Given the description of an element on the screen output the (x, y) to click on. 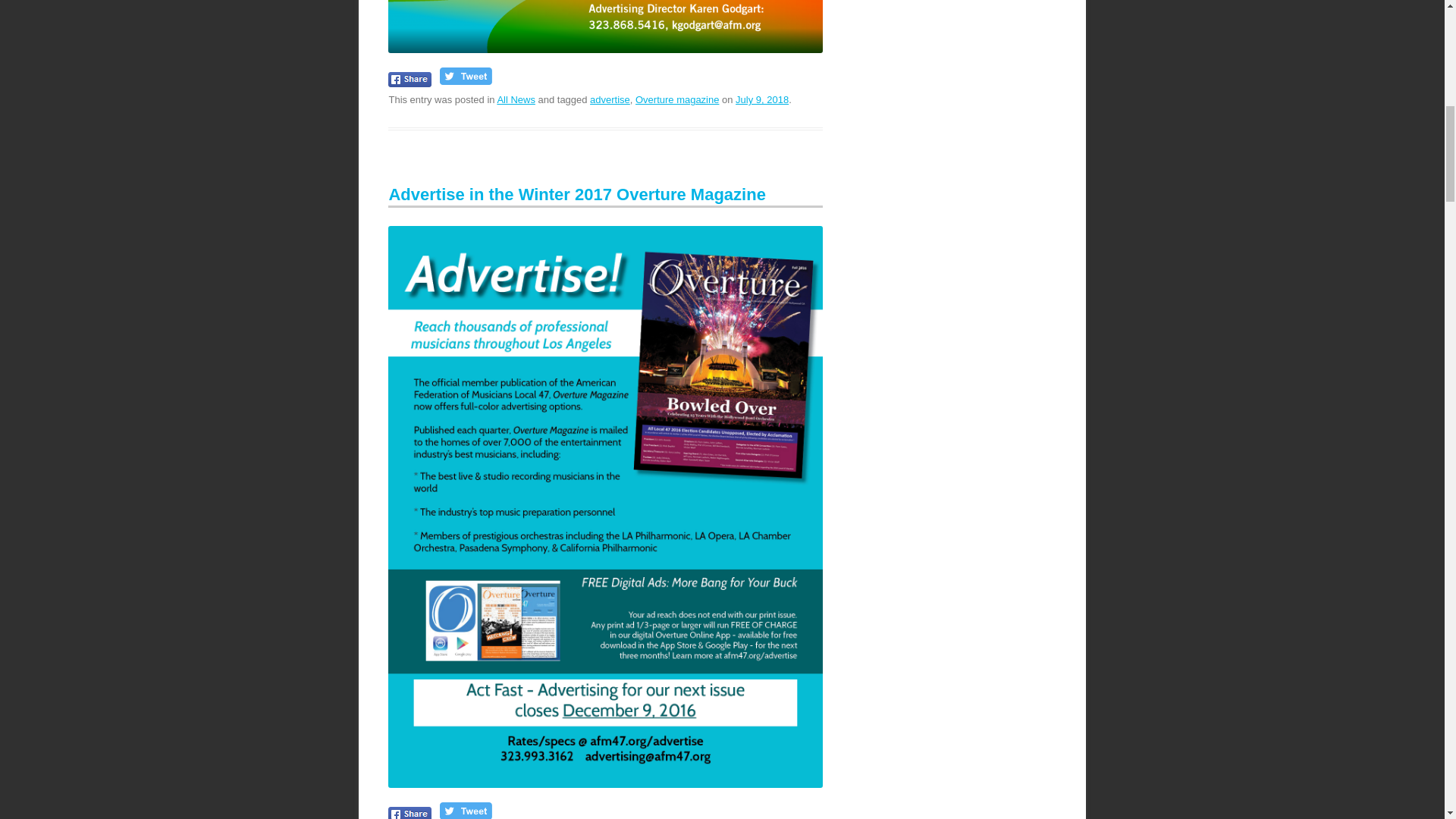
Advertise in the Winter 2017 Overture Magazine (576, 194)
Overture magazine (676, 99)
Tweet (465, 810)
Facebook Share (409, 812)
advertise (609, 99)
Facebook Share (409, 79)
12:55 pm (762, 99)
Tweet (465, 76)
All News (515, 99)
July 9, 2018 (762, 99)
